Given the description of an element on the screen output the (x, y) to click on. 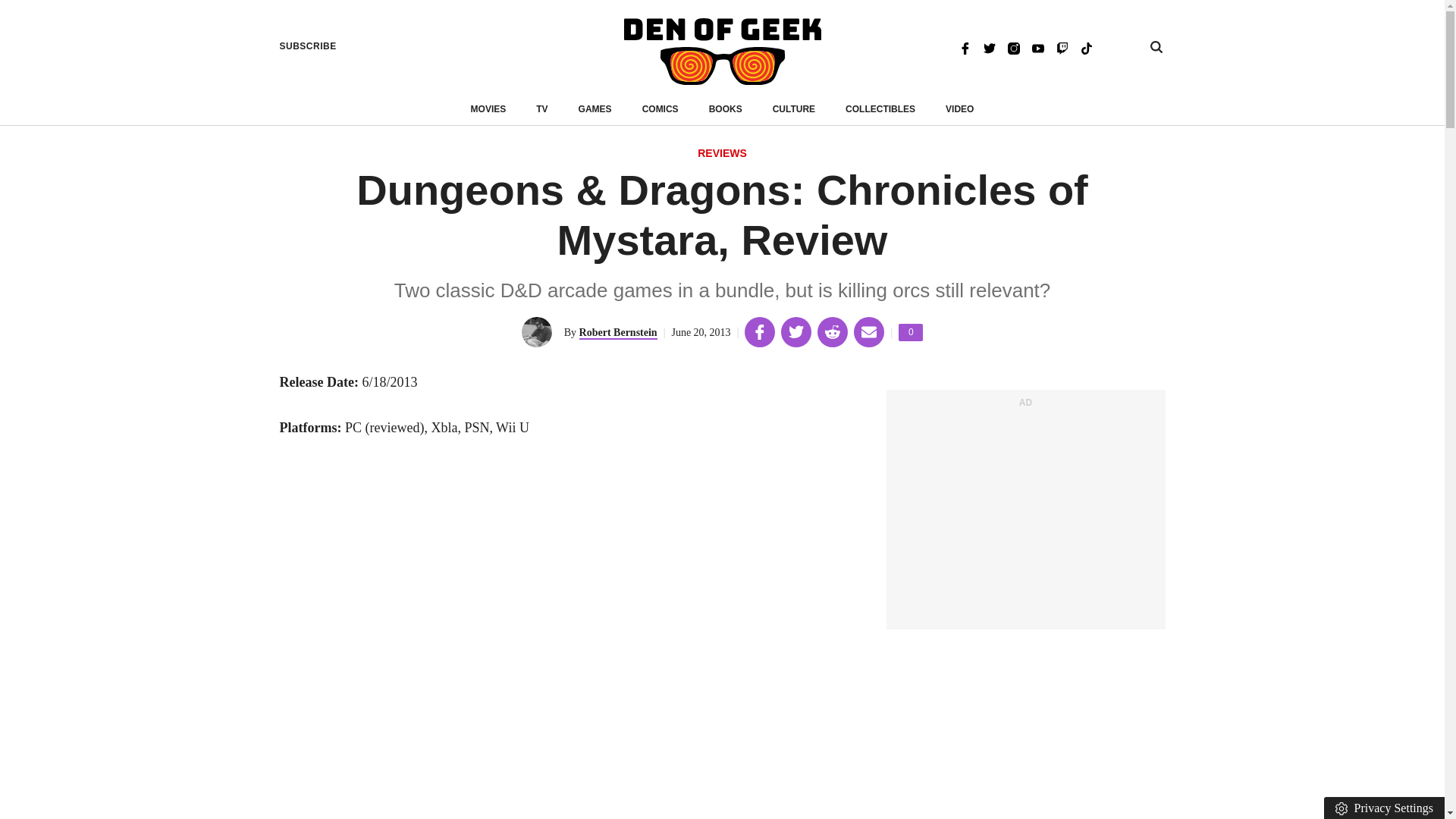
Twitter (988, 46)
MOVIES (488, 109)
Instagram (1013, 46)
Robert Bernstein (618, 332)
Twitch (1061, 46)
BOOKS (725, 109)
VIDEO (959, 109)
REVIEWS (721, 153)
CULTURE (794, 109)
GAMES (594, 109)
COLLECTIBLES (880, 109)
COMICS (660, 109)
TikTok (1085, 46)
Den of Geek (722, 52)
